Given the description of an element on the screen output the (x, y) to click on. 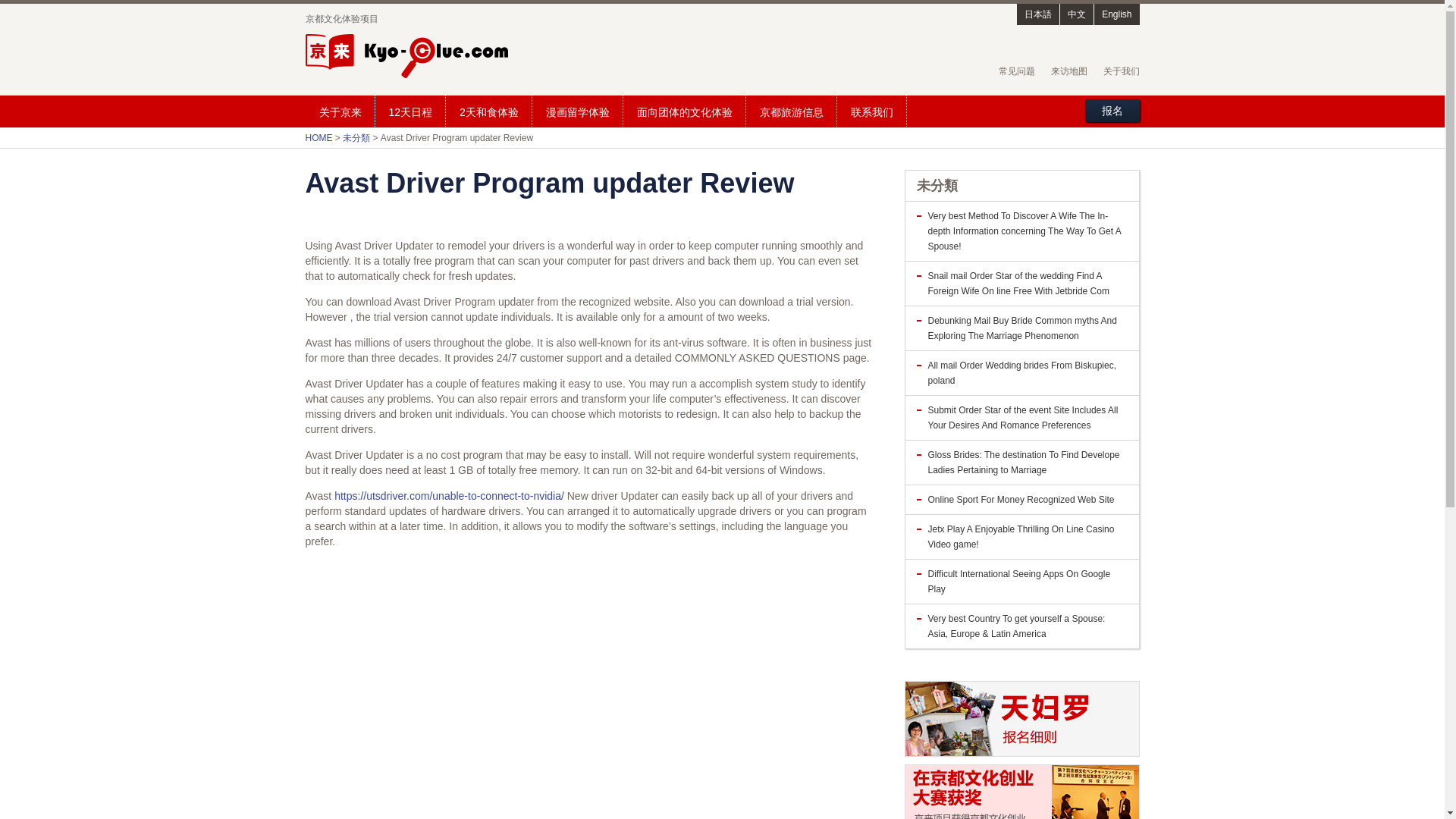
All mail Order Wedding brides From Biskupiec, poland (1021, 372)
English (1116, 14)
English (1116, 14)
HOME (317, 137)
